Given the description of an element on the screen output the (x, y) to click on. 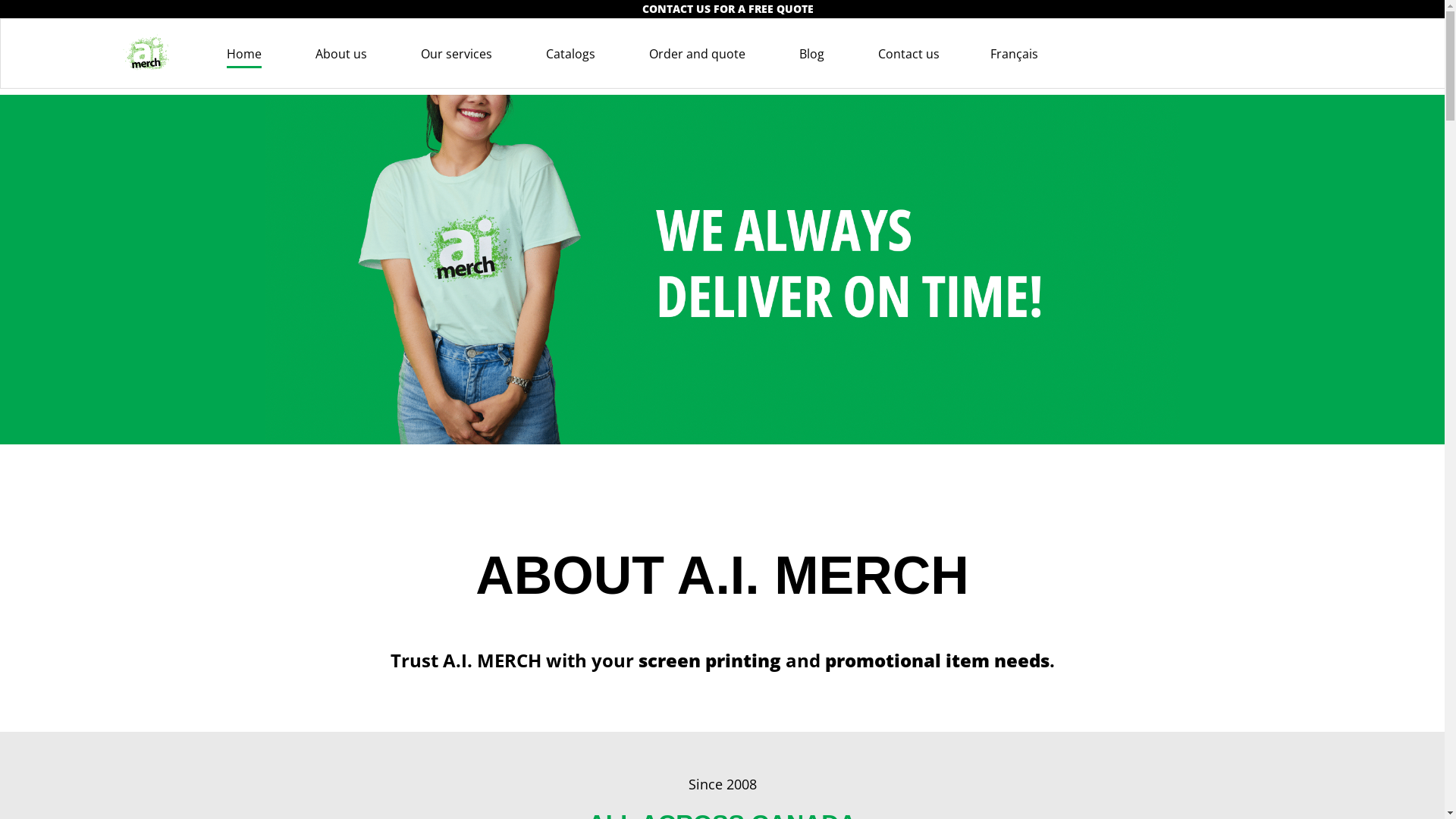
Our services Element type: text (456, 53)
Blog Element type: text (811, 53)
Order and quote Element type: text (697, 53)
Home Element type: text (243, 53)
CONTACT US FOR A FREE QUOTE Element type: text (727, 8)
Contact us Element type: text (908, 53)
About us Element type: text (341, 53)
Catalogs Element type: text (570, 53)
